Given the description of an element on the screen output the (x, y) to click on. 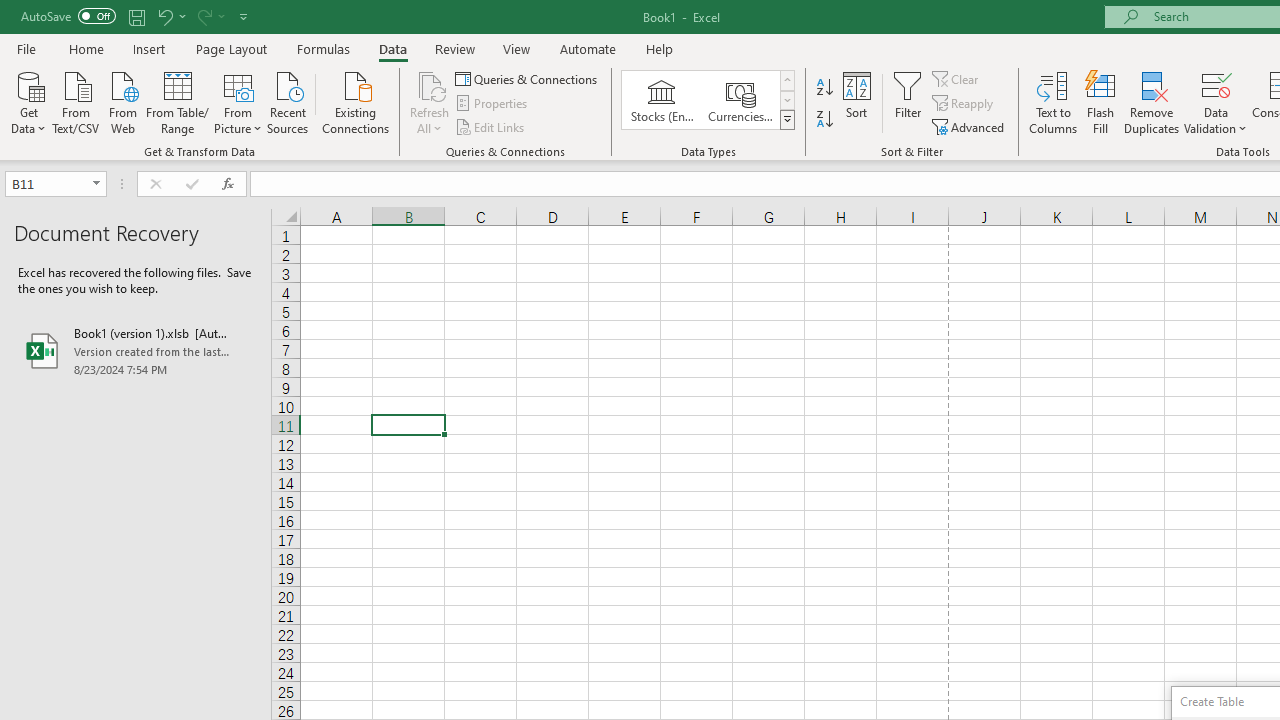
Refresh All (429, 84)
AutoSave (68, 16)
From Table/Range (177, 101)
Edit Links (491, 126)
Automate (588, 48)
From Web (122, 101)
Advanced... (970, 126)
Remove Duplicates (1151, 102)
Data Validation... (1215, 102)
Get Data (28, 101)
